Given the description of an element on the screen output the (x, y) to click on. 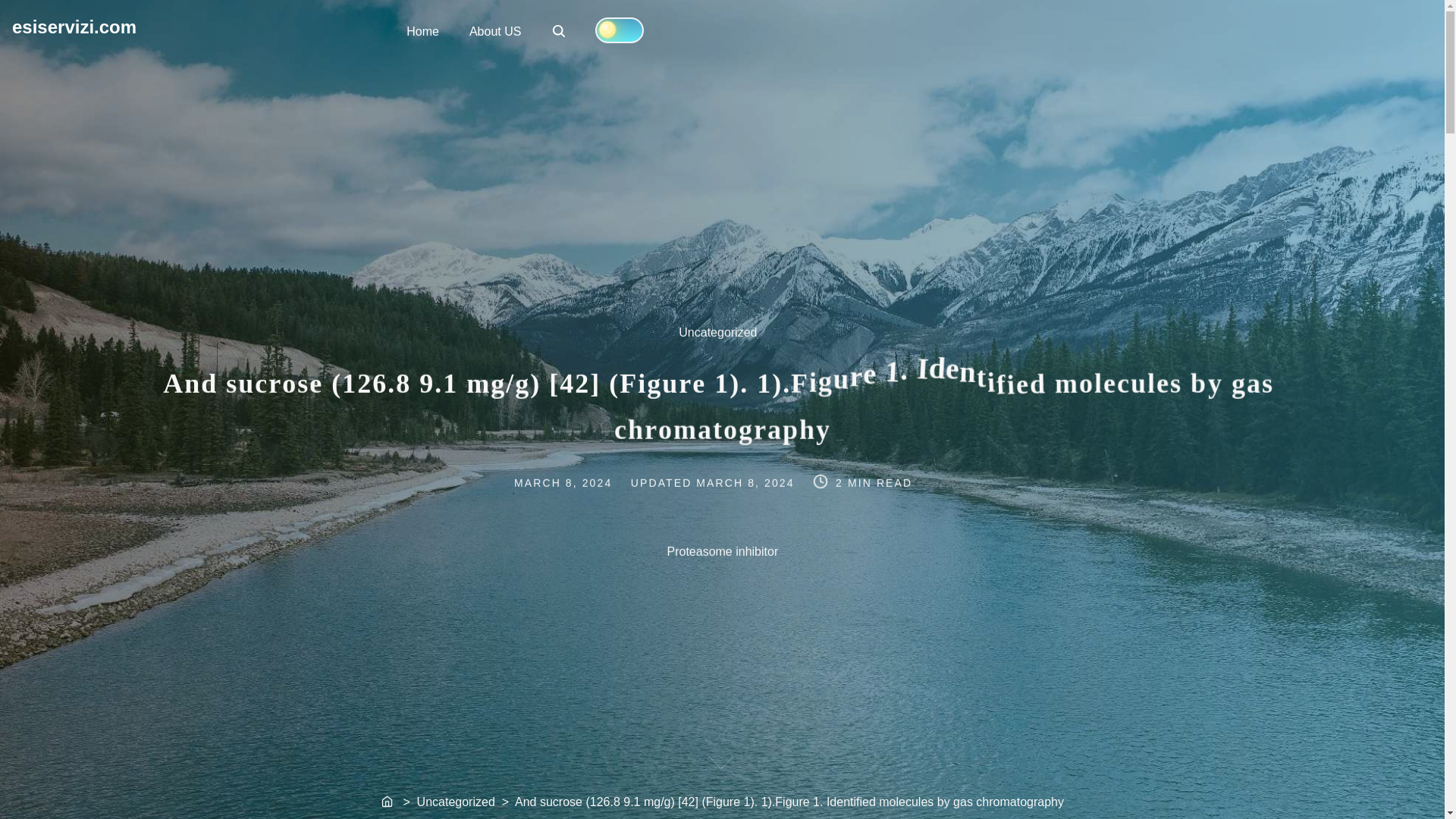
MARCH 8, 2024 (745, 480)
About US (494, 30)
MARCH 8, 2024 (578, 480)
Search (558, 30)
Home (559, 31)
Uncategorized (388, 802)
esiservizi.com (724, 341)
Home (73, 26)
